Given the description of an element on the screen output the (x, y) to click on. 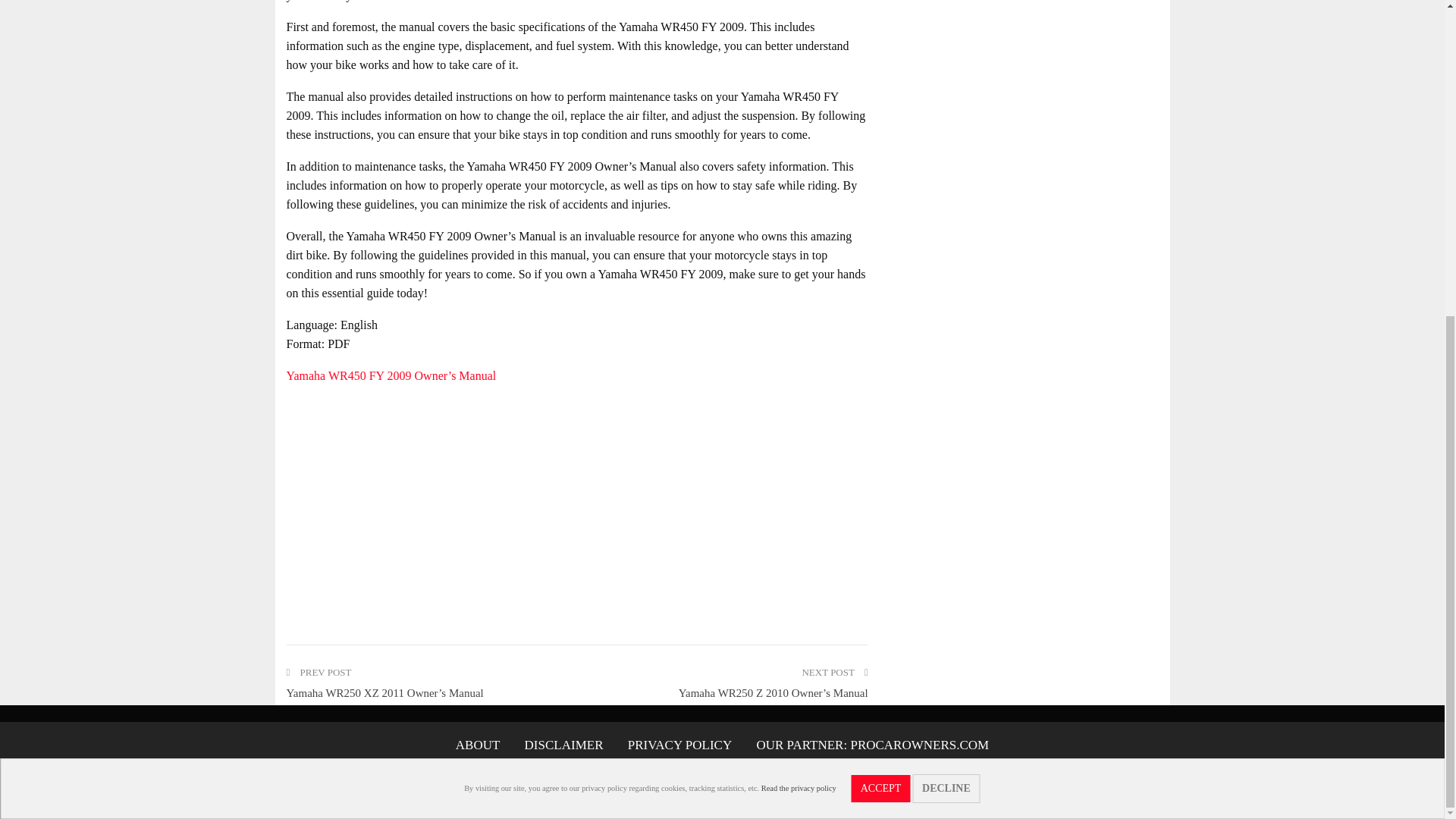
DECLINE (945, 280)
ACCEPT (881, 280)
Read the privacy policy (798, 280)
ABOUT (477, 744)
